Given the description of an element on the screen output the (x, y) to click on. 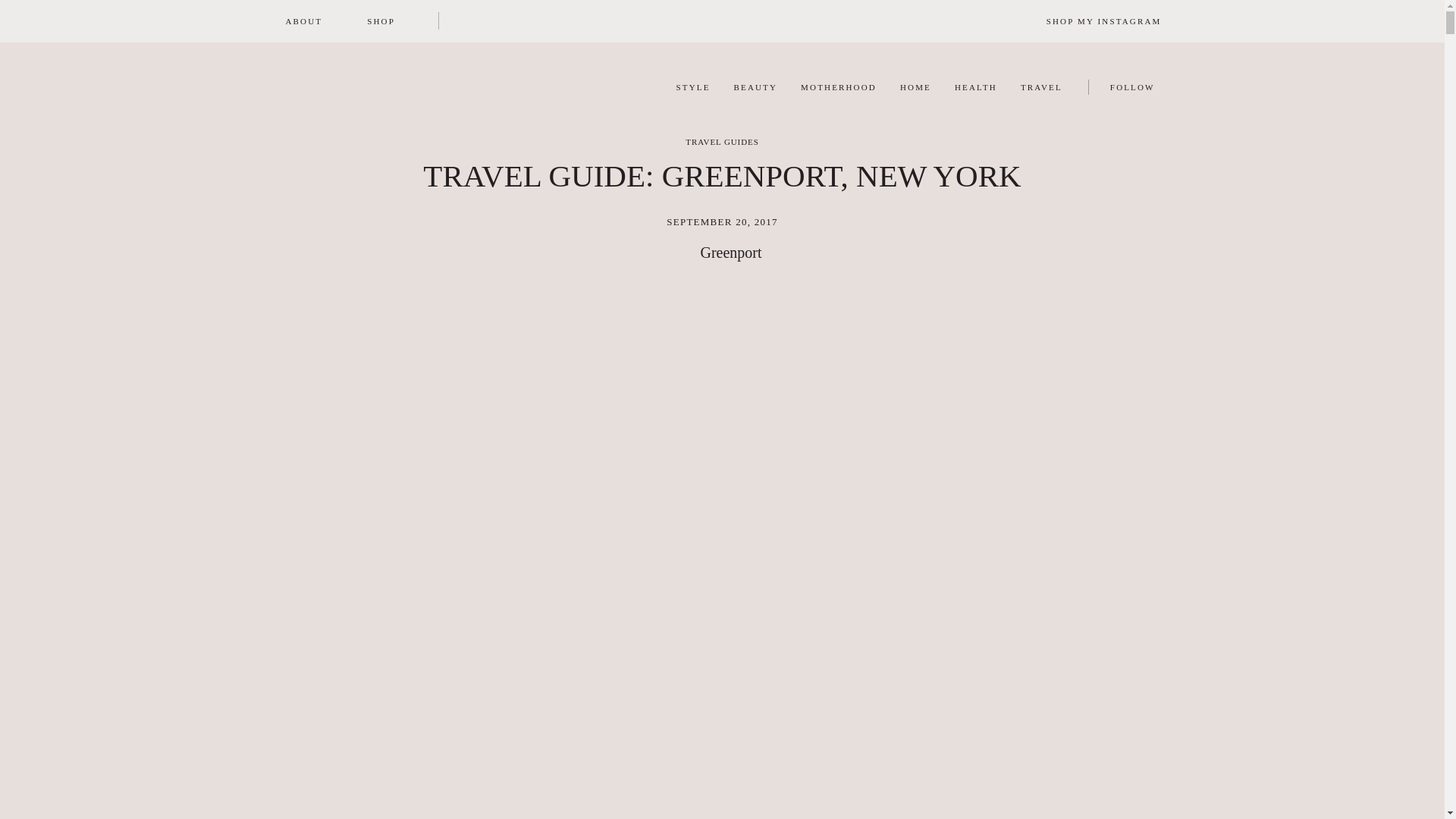
STYLE (906, 96)
SHOP (681, 96)
MOTHERHOOD (380, 20)
BEAUTY (826, 96)
ABOUT (743, 96)
SHOP MY INSTAGRAM (303, 20)
